Given the description of an element on the screen output the (x, y) to click on. 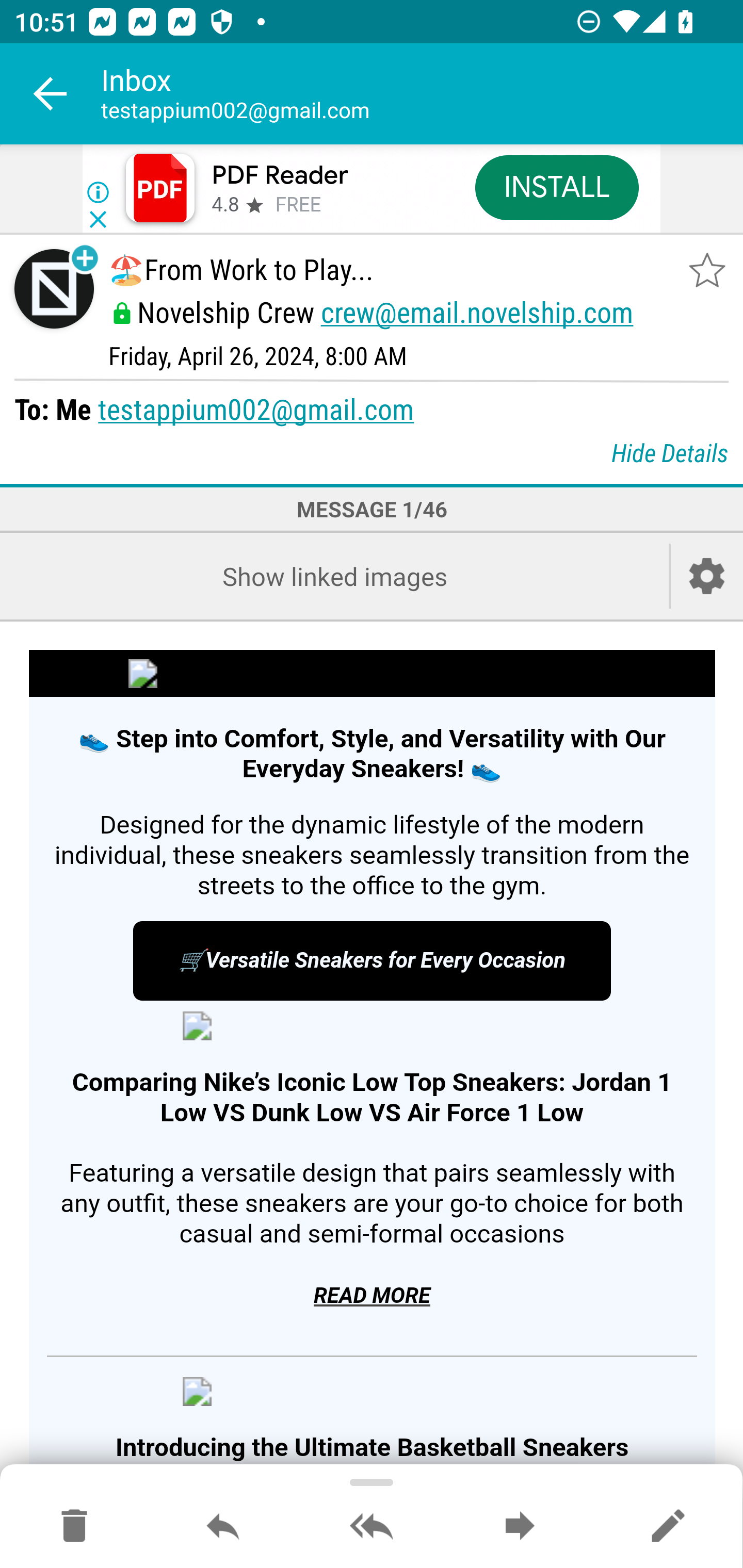
Navigate up (50, 93)
Inbox testappium002@gmail.com (422, 93)
INSTALL (556, 187)
PDF Reader (279, 175)
Sender contact button (53, 289)
Show linked images (334, 576)
Account setup (706, 576)
data: (371, 672)
🛒Versatile Sneakers for Every Occasion (371, 960)
data: (371, 1026)
READ MORE (371, 1295)
data: (371, 1390)
Move to Deleted (74, 1527)
Reply (222, 1527)
Reply all (371, 1527)
Forward (519, 1527)
Reply as new (667, 1527)
